Given the description of an element on the screen output the (x, y) to click on. 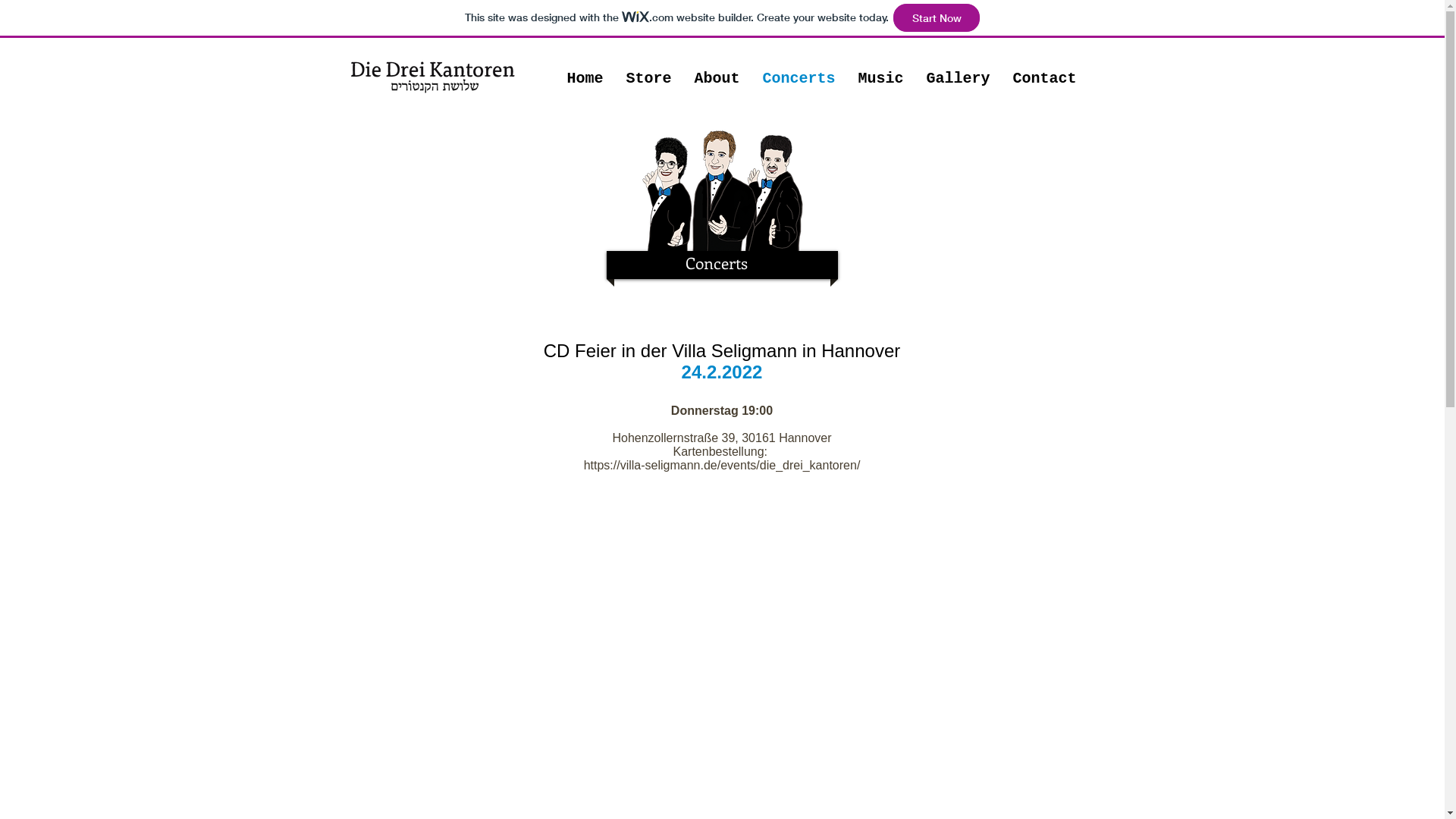
About Element type: text (716, 70)
Store Element type: text (648, 70)
https://villa-seligmann.de/events/die_drei_kantoren/ Element type: text (721, 464)
Concerts Element type: text (798, 70)
Contact Element type: text (1044, 70)
Gallery Element type: text (957, 70)
Music Element type: text (880, 70)
Home Element type: text (584, 70)
